Given the description of an element on the screen output the (x, y) to click on. 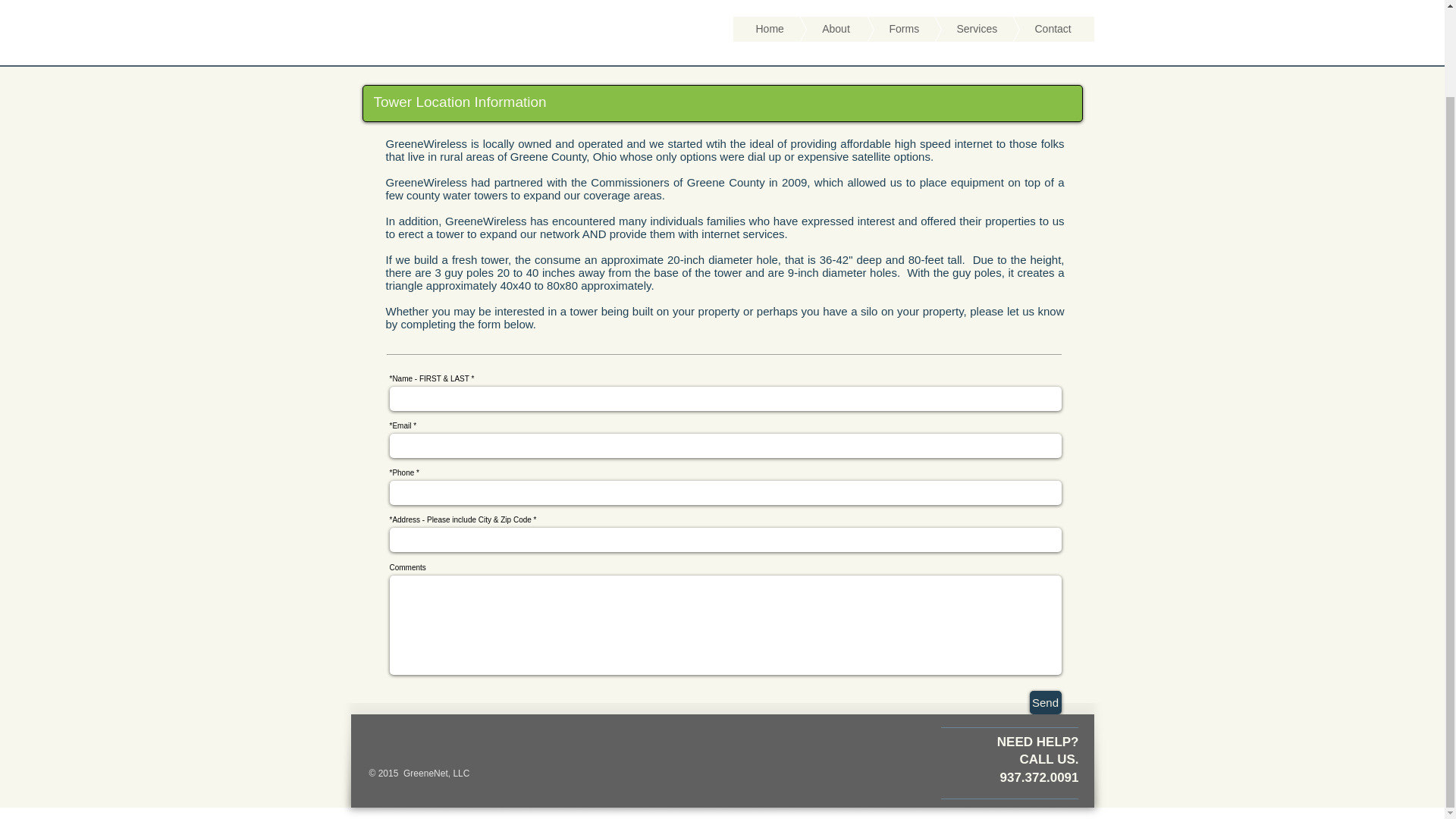
Forms (880, 28)
Services (953, 28)
Contact (1029, 28)
Home (768, 28)
Send (1045, 702)
About (813, 28)
